Given the description of an element on the screen output the (x, y) to click on. 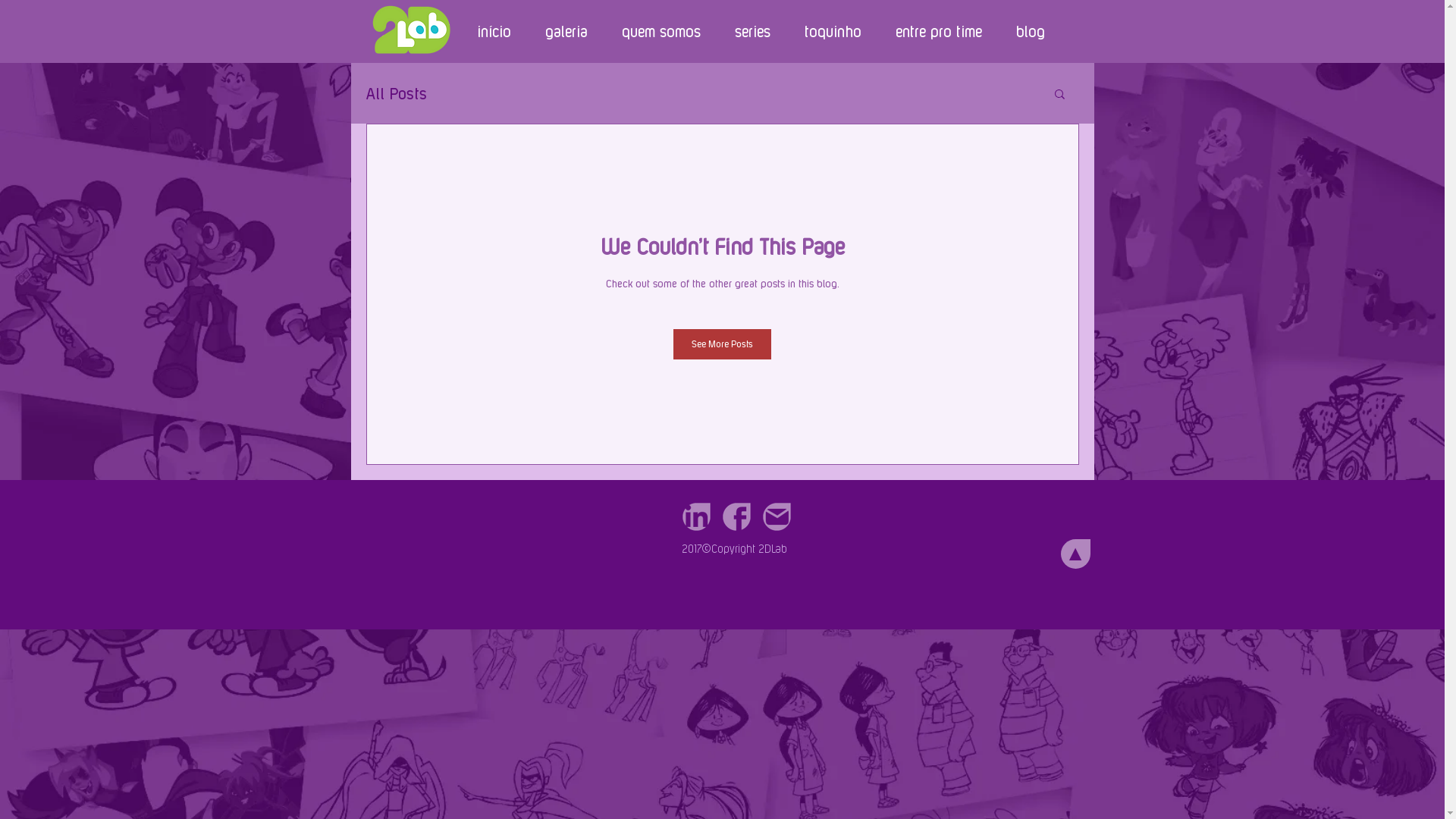
series Element type: text (752, 31)
blog Element type: text (1028, 31)
quem somos Element type: text (659, 31)
galeria Element type: text (565, 31)
See More Posts Element type: text (722, 344)
LOGO_2DLAB_2015_cor.png Element type: hover (410, 29)
entre pro time Element type: text (938, 31)
toquinho Element type: text (832, 31)
All Posts Element type: text (395, 93)
